Given the description of an element on the screen output the (x, y) to click on. 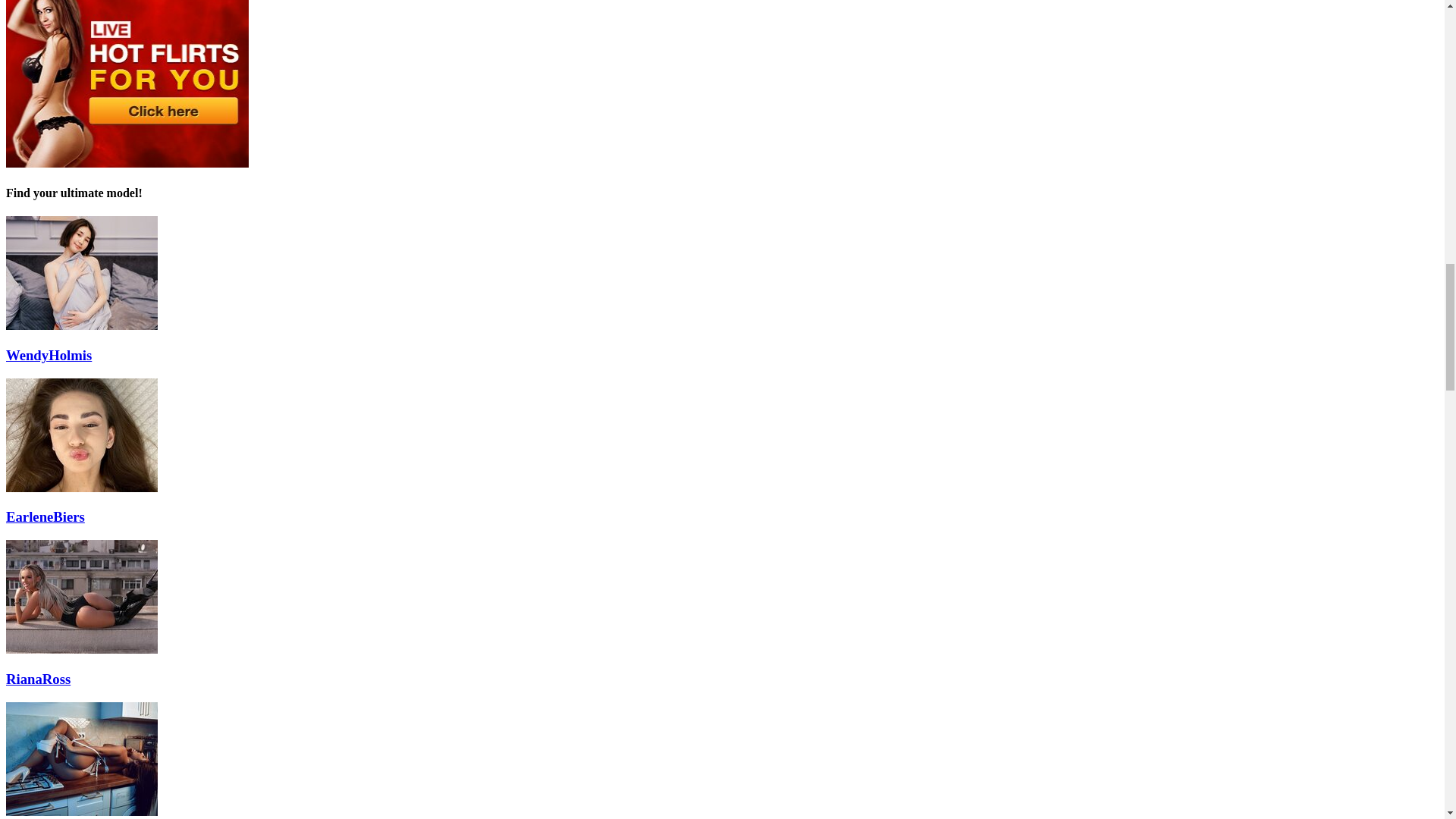
WendyHolmis Free Naked Private (81, 325)
EarleneBiers Free Naked Private (81, 487)
